Given the description of an element on the screen output the (x, y) to click on. 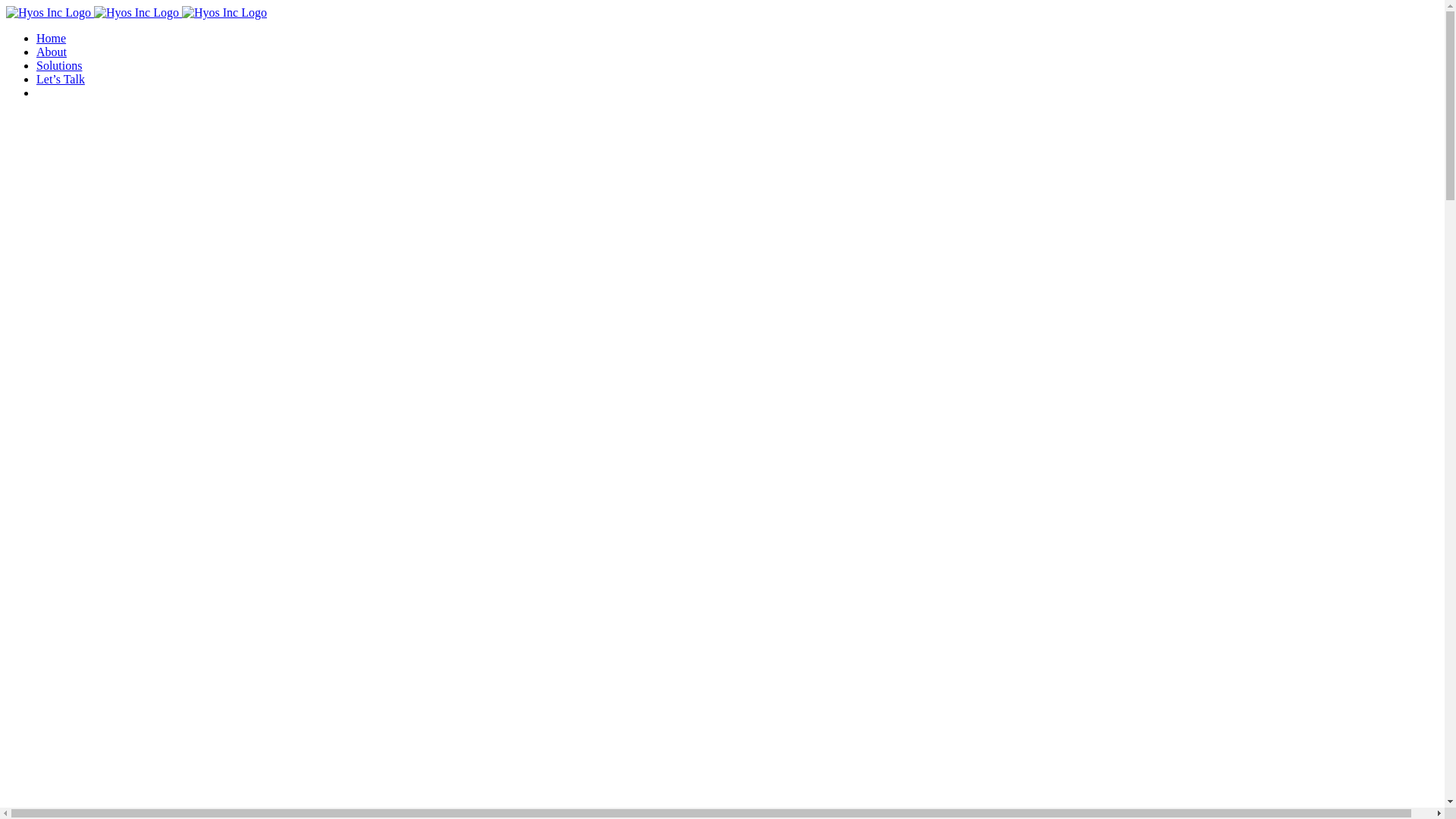
Skip to content Element type: text (5, 5)
About Element type: text (51, 51)
Home Element type: text (50, 37)
Solutions Element type: text (58, 65)
